Given the description of an element on the screen output the (x, y) to click on. 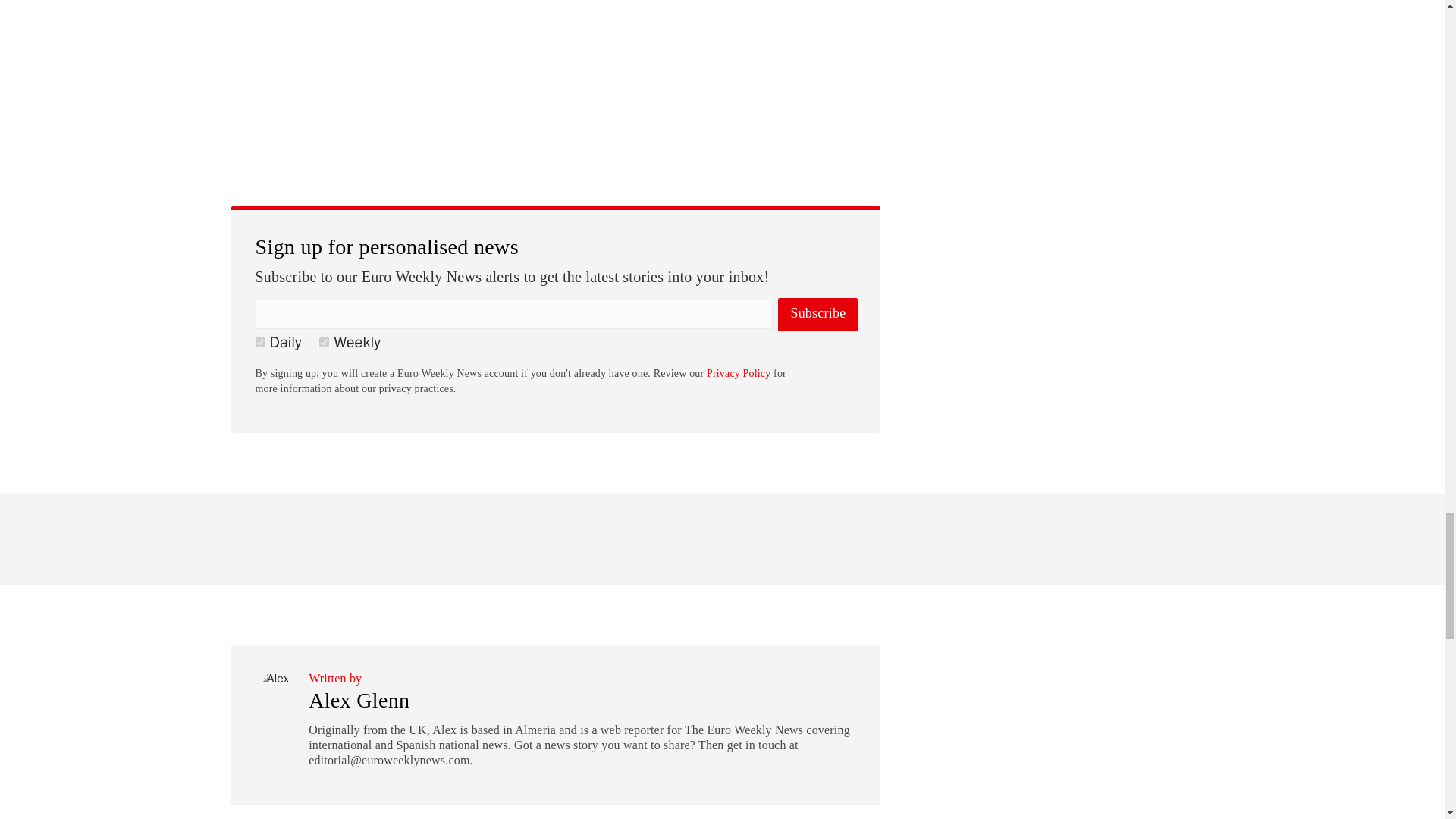
6 (259, 342)
7 (323, 342)
Subscribe (817, 314)
